Given the description of an element on the screen output the (x, y) to click on. 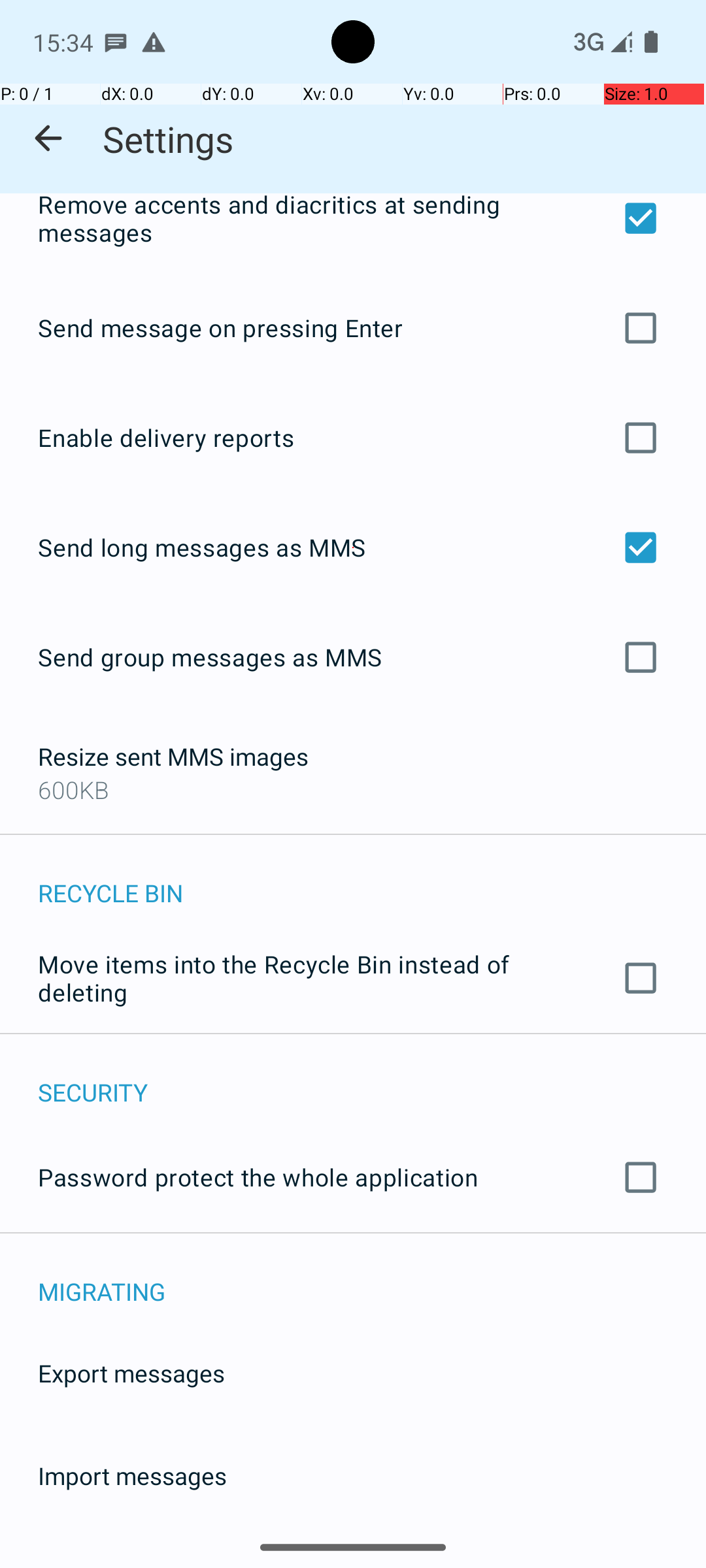
RECYCLE BIN Element type: android.widget.TextView (371, 878)
SECURITY Element type: android.widget.TextView (371, 1078)
MIGRATING Element type: android.widget.TextView (371, 1277)
Remove accents and diacritics at sending messages Element type: android.widget.CheckBox (352, 226)
Send message on pressing Enter Element type: android.widget.CheckBox (352, 327)
Enable delivery reports Element type: android.widget.CheckBox (352, 437)
Send long messages as MMS Element type: android.widget.CheckBox (352, 547)
Send group messages as MMS Element type: android.widget.CheckBox (352, 657)
Resize sent MMS images Element type: android.widget.TextView (172, 755)
600KB Element type: android.widget.TextView (73, 789)
Move items into the Recycle Bin instead of deleting Element type: android.widget.CheckBox (352, 977)
Password protect the whole application Element type: android.widget.CheckBox (352, 1177)
Export messages Element type: android.widget.TextView (352, 1372)
Import messages Element type: android.widget.TextView (352, 1475)
